Given the description of an element on the screen output the (x, y) to click on. 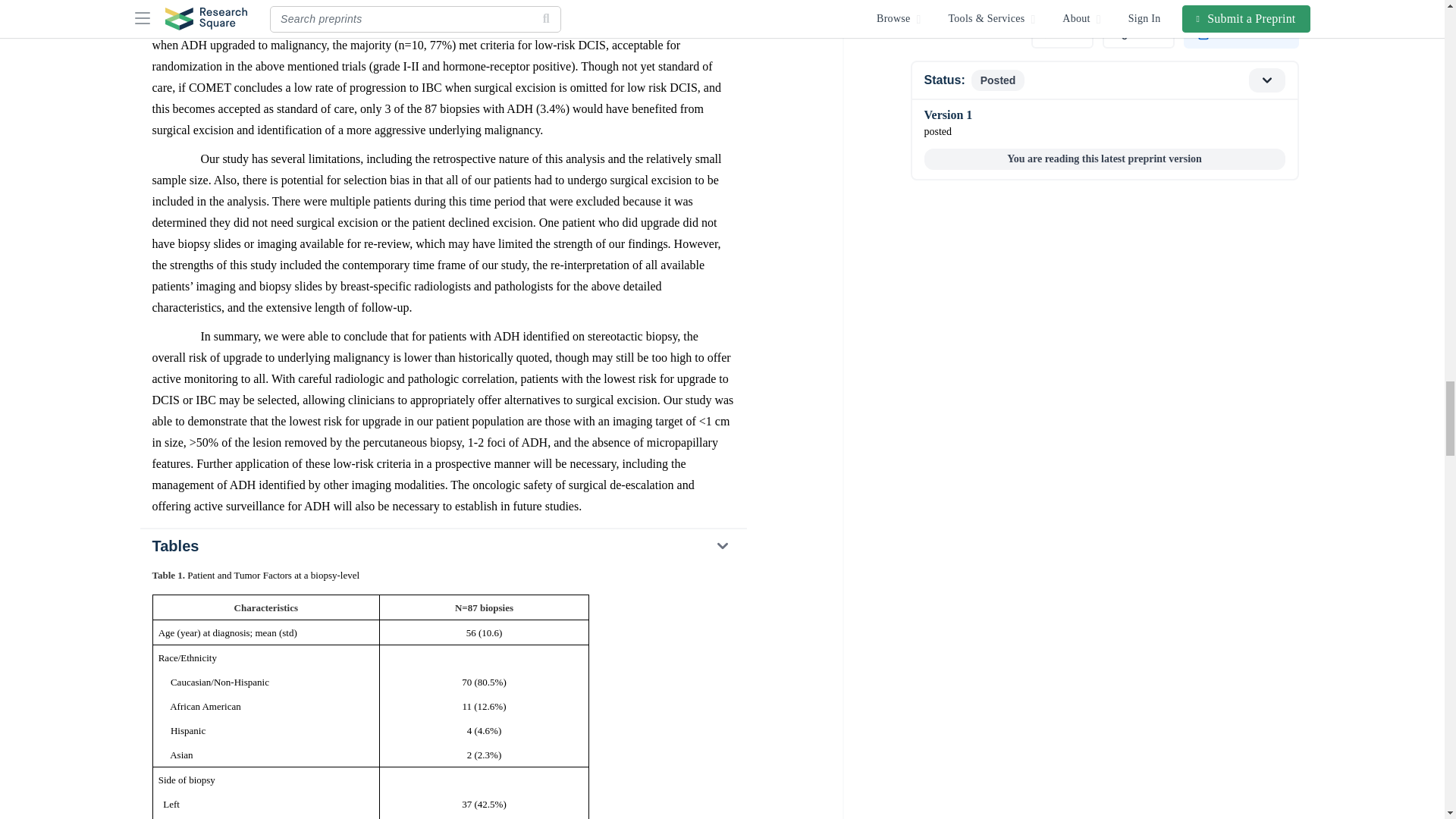
Tables (442, 545)
